Given the description of an element on the screen output the (x, y) to click on. 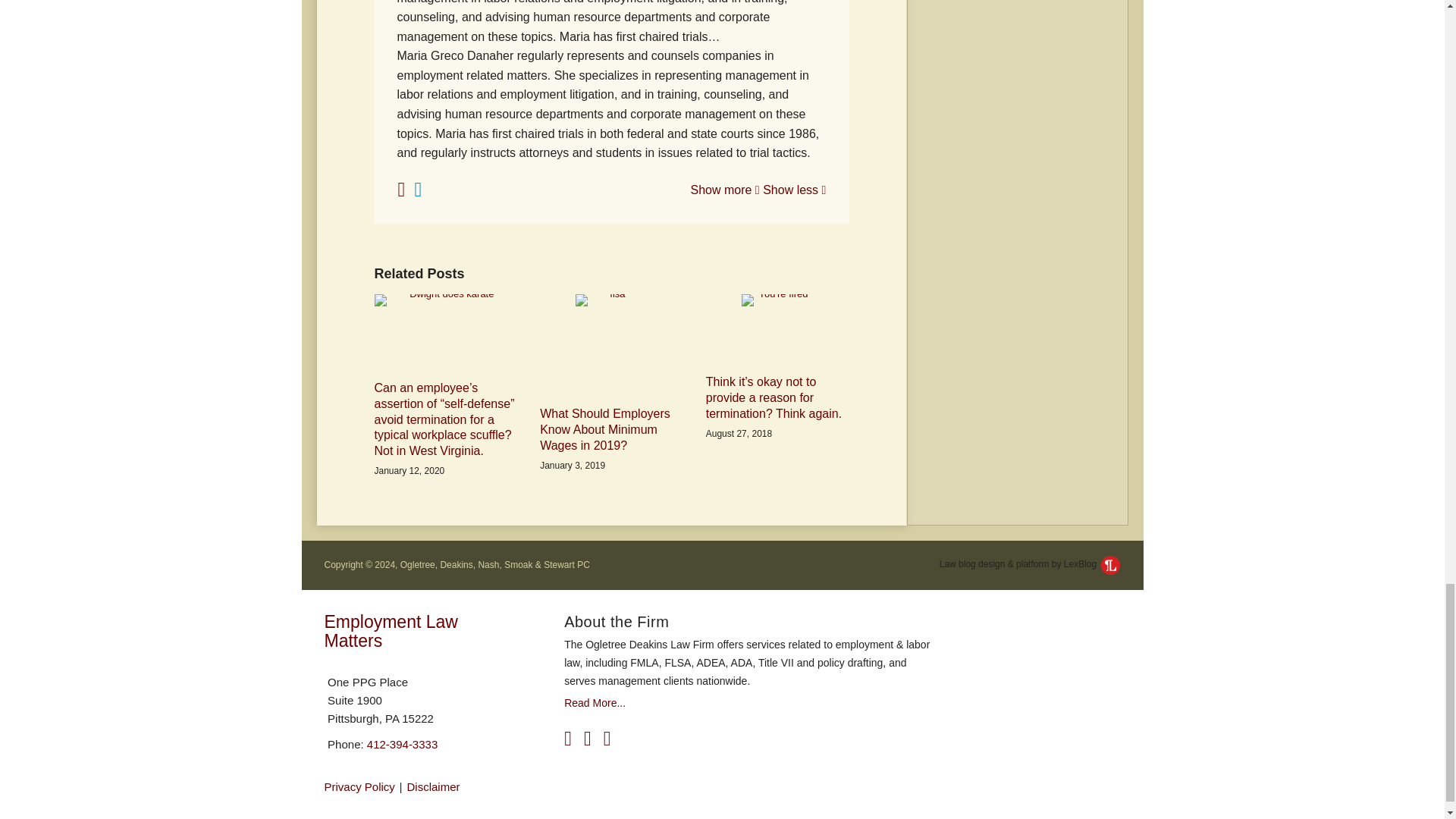
Show less (793, 189)
Show more (724, 189)
What Should Employers Know About Minimum Wages in 2019? (611, 429)
LexBlog Logo (1109, 565)
